Given the description of an element on the screen output the (x, y) to click on. 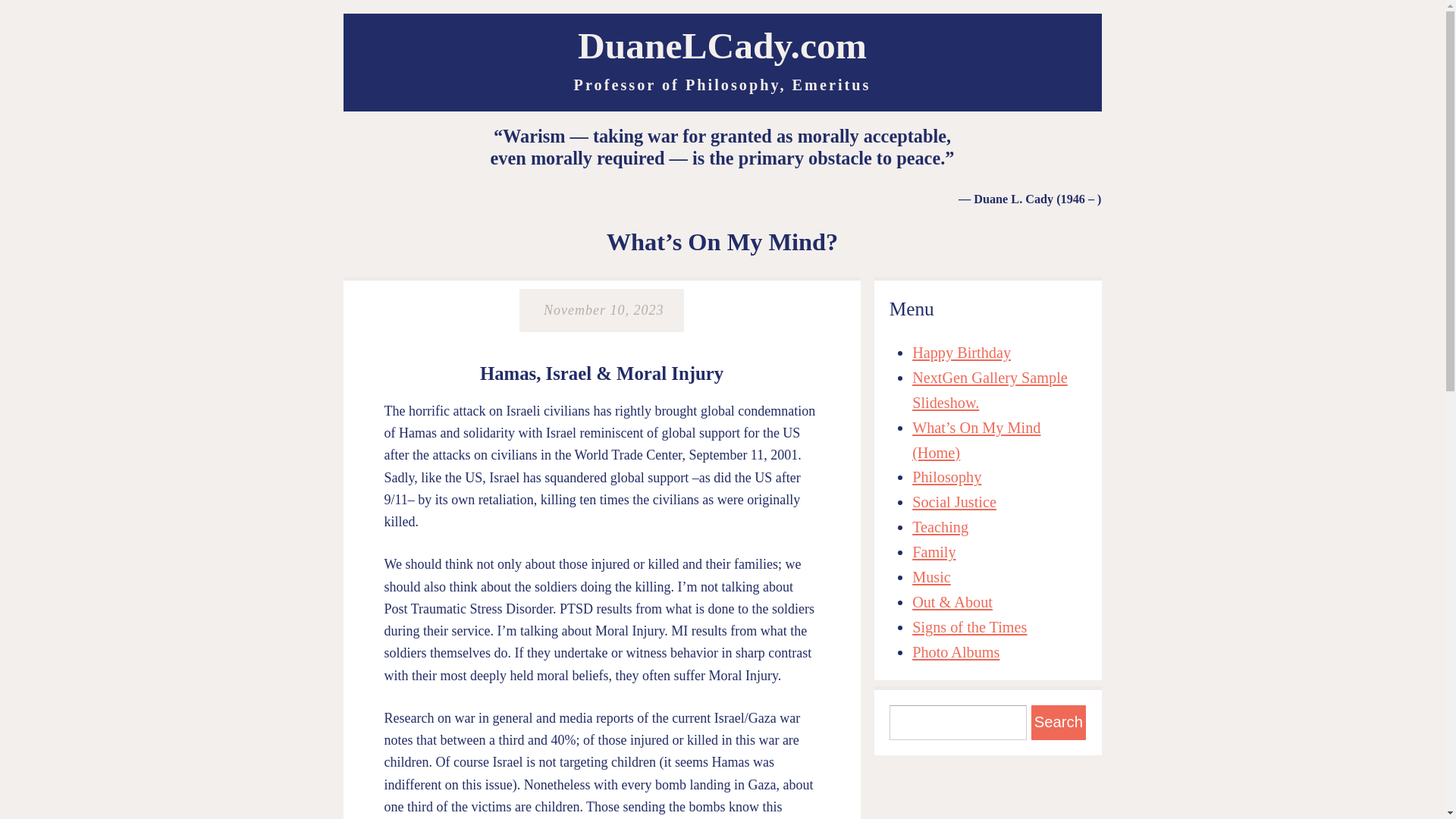
Music (931, 576)
Photo Albums (955, 651)
Teaching (940, 526)
Family (933, 551)
NextGen Gallery Sample Slideshow. (989, 390)
Happy Birthday (961, 352)
Professor of Philosophy, Emeritus (721, 84)
Philosophy (946, 476)
Search (1058, 722)
Social Justice (953, 501)
